Given the description of an element on the screen output the (x, y) to click on. 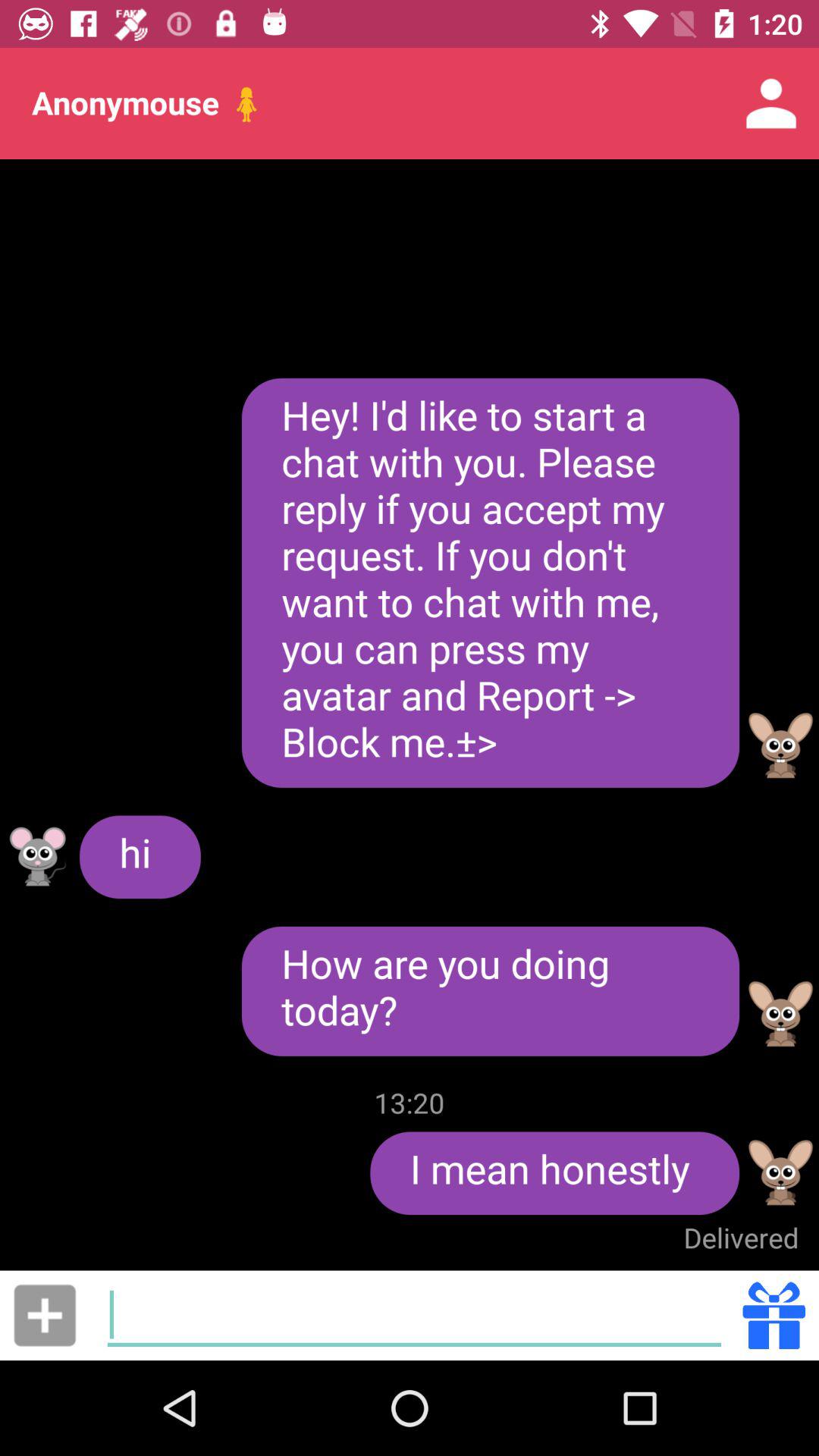
turn on the item below the i mean honestly  icon (741, 1237)
